Given the description of an element on the screen output the (x, y) to click on. 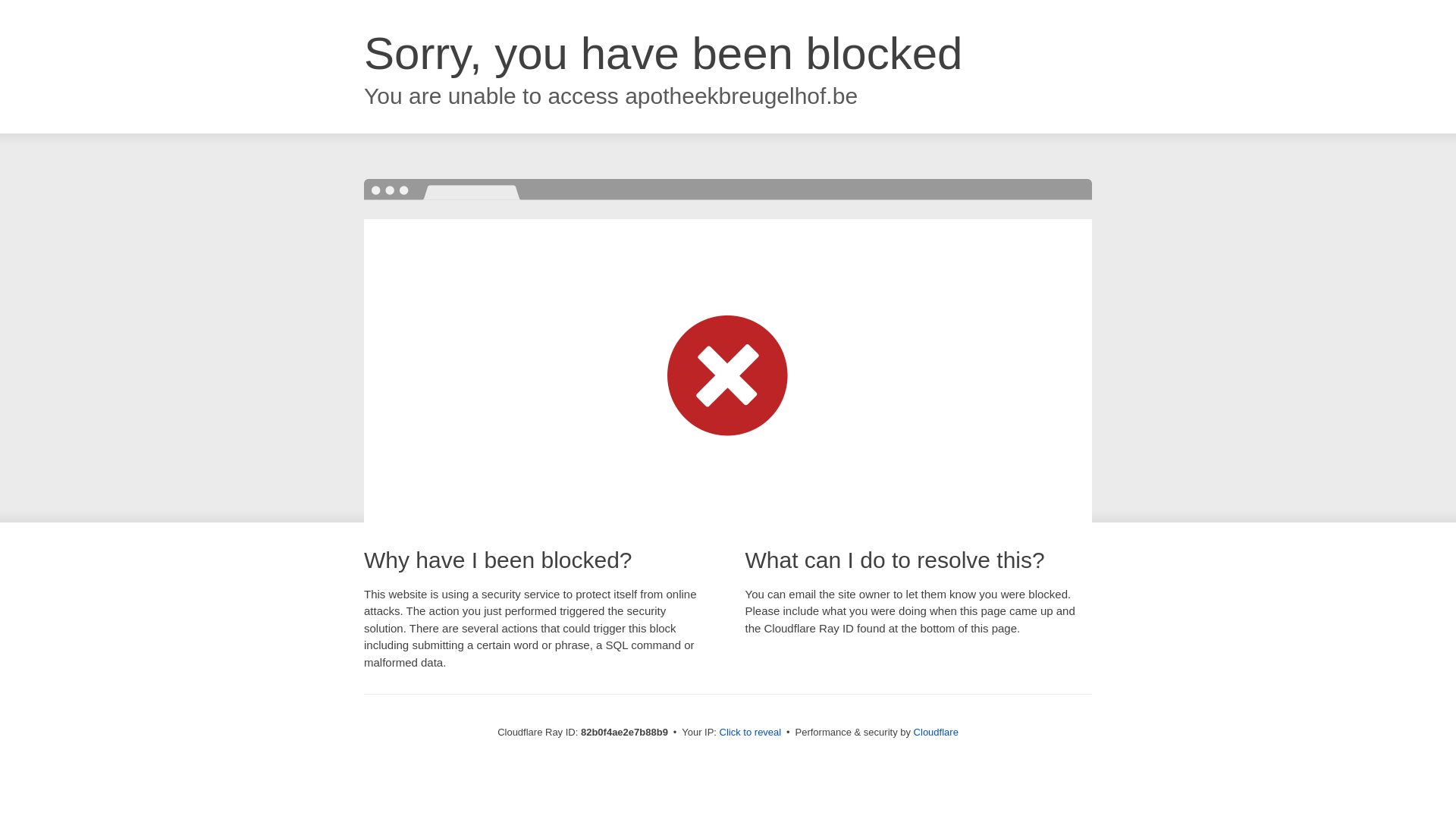
Cloudflare Element type: text (935, 731)
Click to reveal Element type: text (750, 732)
